Given the description of an element on the screen output the (x, y) to click on. 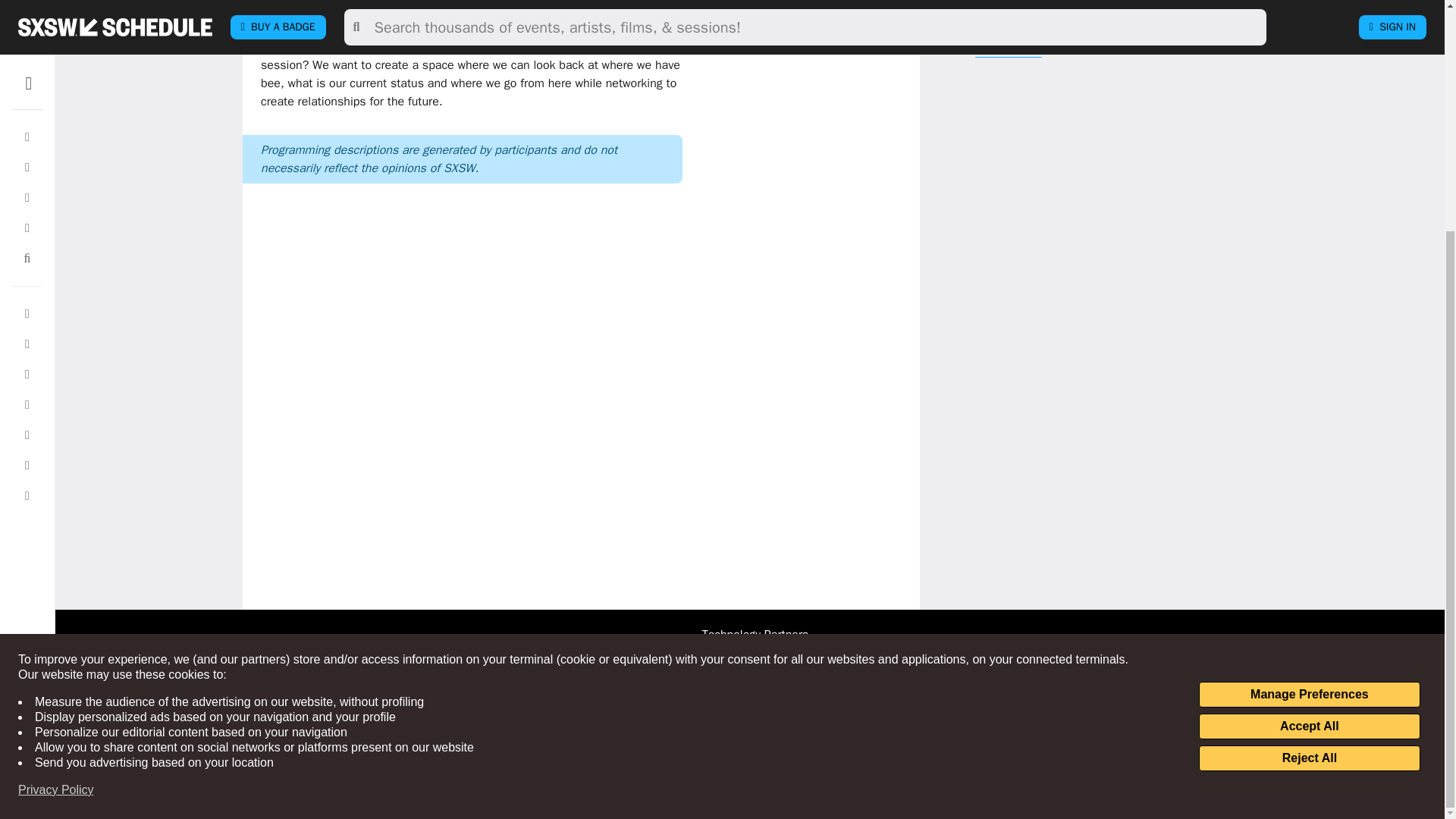
Reject All (1309, 445)
Sign In to add to your favorites. (818, 6)
Manage Preferences (1309, 381)
Accept All (1309, 413)
Privacy Policy (55, 477)
